Given the description of an element on the screen output the (x, y) to click on. 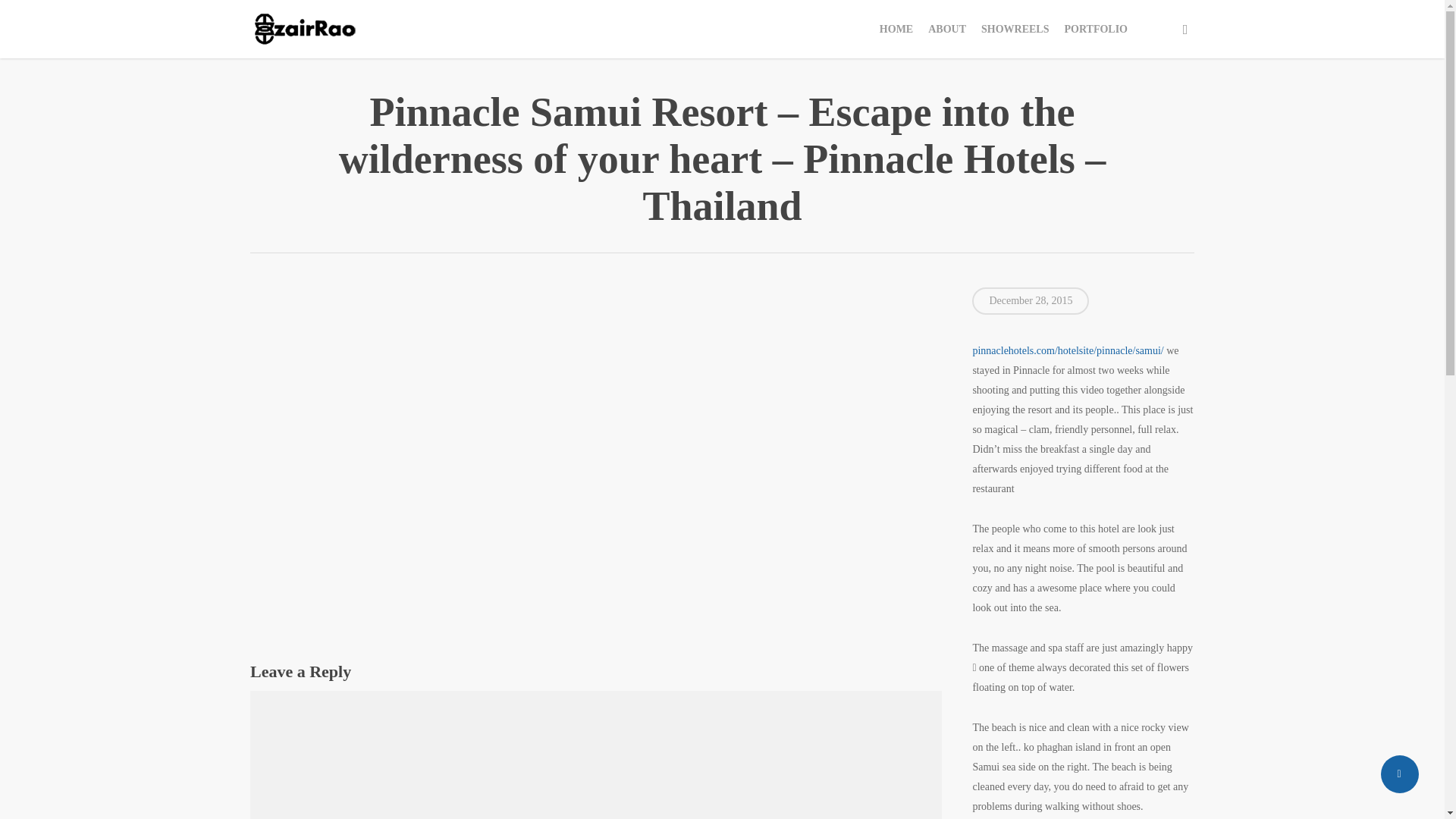
PORTFOLIO (1096, 29)
SHOWREELS (1015, 29)
HOME (896, 29)
search (1184, 28)
English (1142, 28)
ABOUT (947, 29)
